Given the description of an element on the screen output the (x, y) to click on. 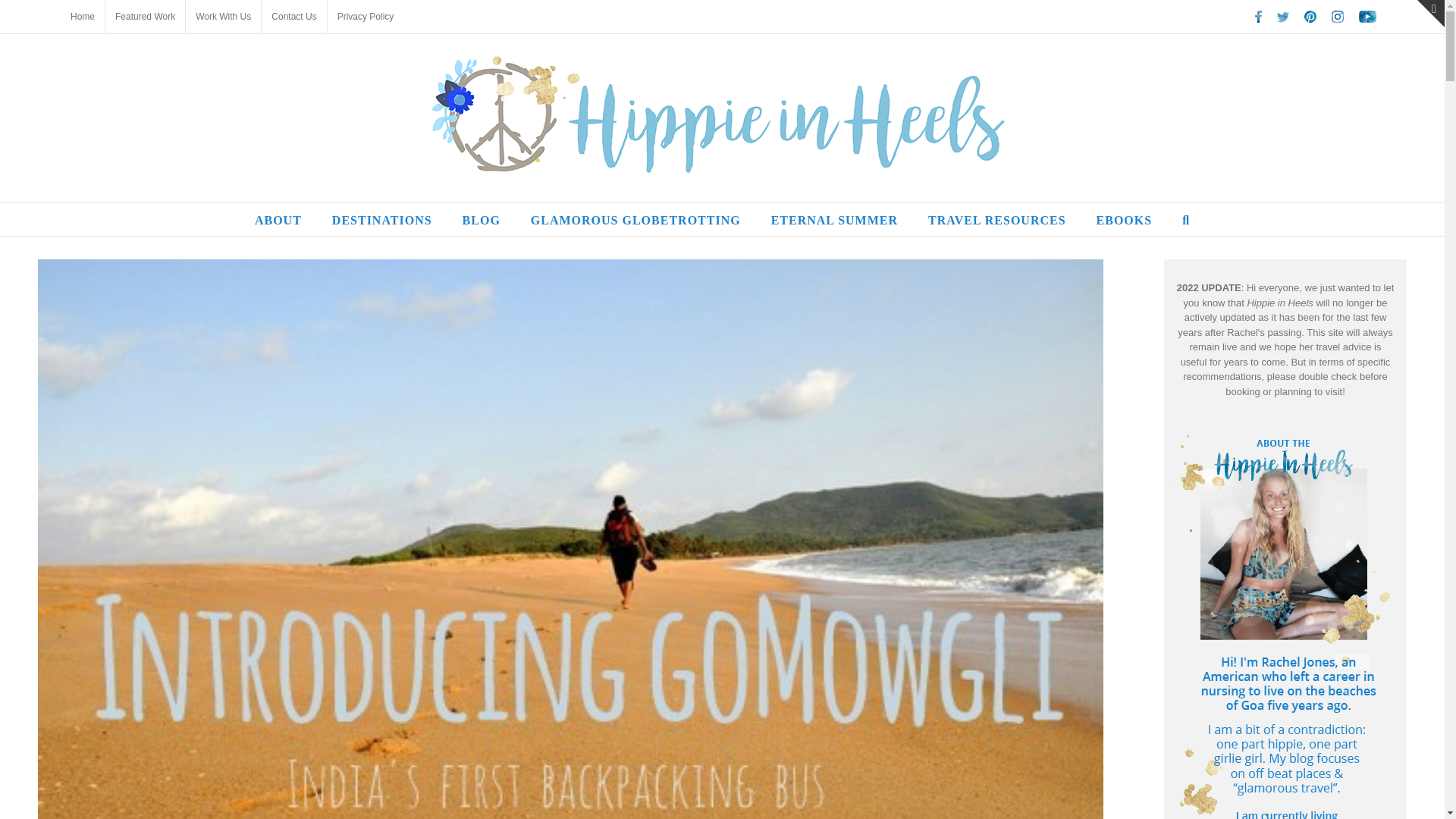
Twitter (1283, 16)
Featured Work (144, 16)
DESTINATIONS (381, 219)
Home (82, 16)
Pinterest (1310, 16)
ABOUT (277, 219)
Instagram (1337, 16)
Contact Us (294, 16)
Privacy Policy (365, 16)
Youtube (1366, 16)
Work With Us (223, 16)
